Given the description of an element on the screen output the (x, y) to click on. 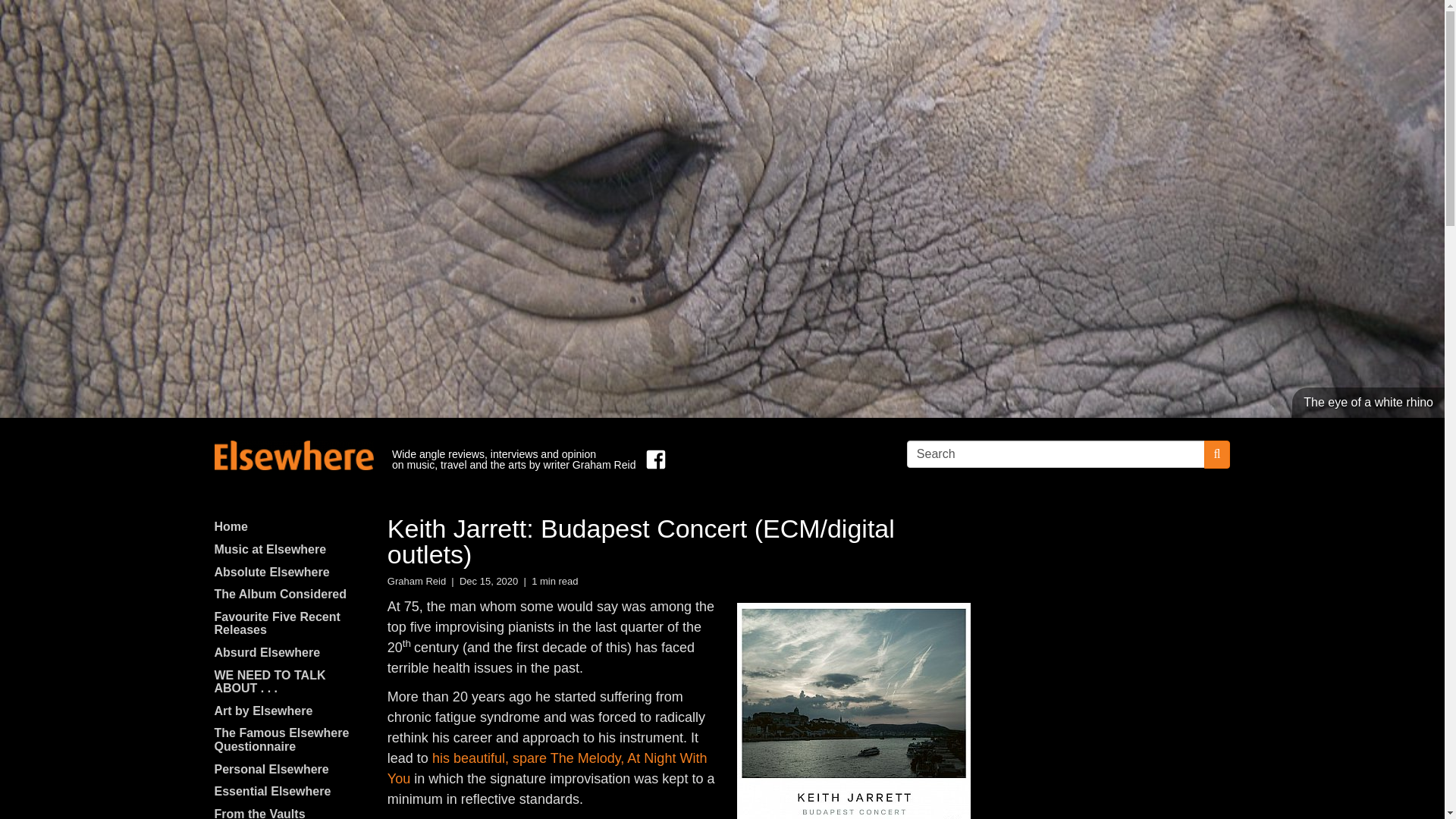
Elsewhere by Graham Reid (293, 455)
Find us on Facebook (652, 459)
Search (1056, 453)
Search (1056, 453)
